Given the description of an element on the screen output the (x, y) to click on. 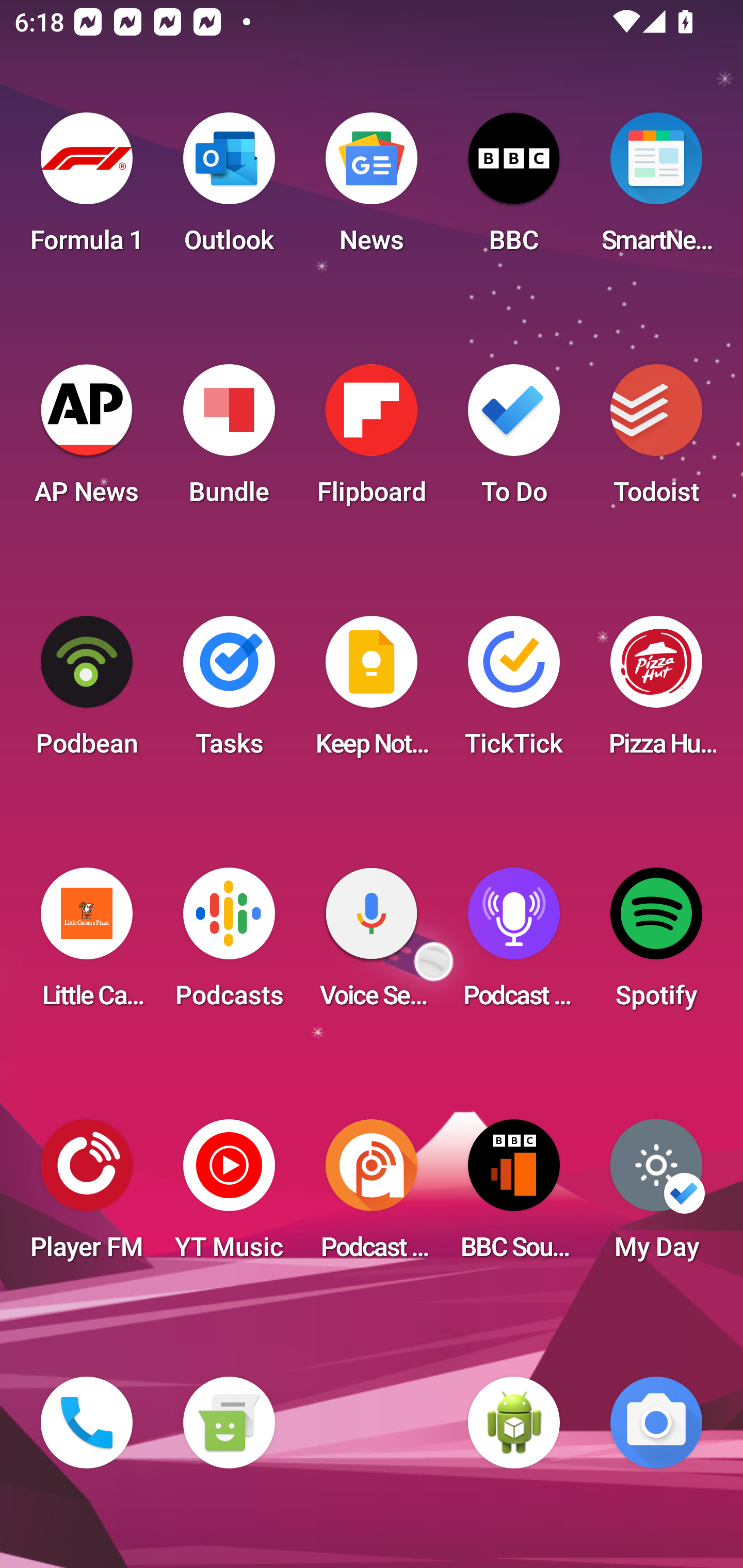
Formula 1 (86, 188)
Outlook (228, 188)
News (371, 188)
BBC (513, 188)
SmartNews (656, 188)
AP News (86, 440)
Bundle (228, 440)
Flipboard (371, 440)
To Do (513, 440)
Todoist (656, 440)
Podbean (86, 692)
Tasks (228, 692)
Keep Notes (371, 692)
TickTick (513, 692)
Pizza Hut HK & Macau (656, 692)
Little Caesars Pizza (86, 943)
Podcasts (228, 943)
Voice Search (371, 943)
Podcast Player (513, 943)
Spotify (656, 943)
Player FM (86, 1195)
YT Music (228, 1195)
Podcast Addict (371, 1195)
BBC Sounds (513, 1195)
My Day (656, 1195)
Phone (86, 1422)
Messaging (228, 1422)
WebView Browser Tester (513, 1422)
Camera (656, 1422)
